Given the description of an element on the screen output the (x, y) to click on. 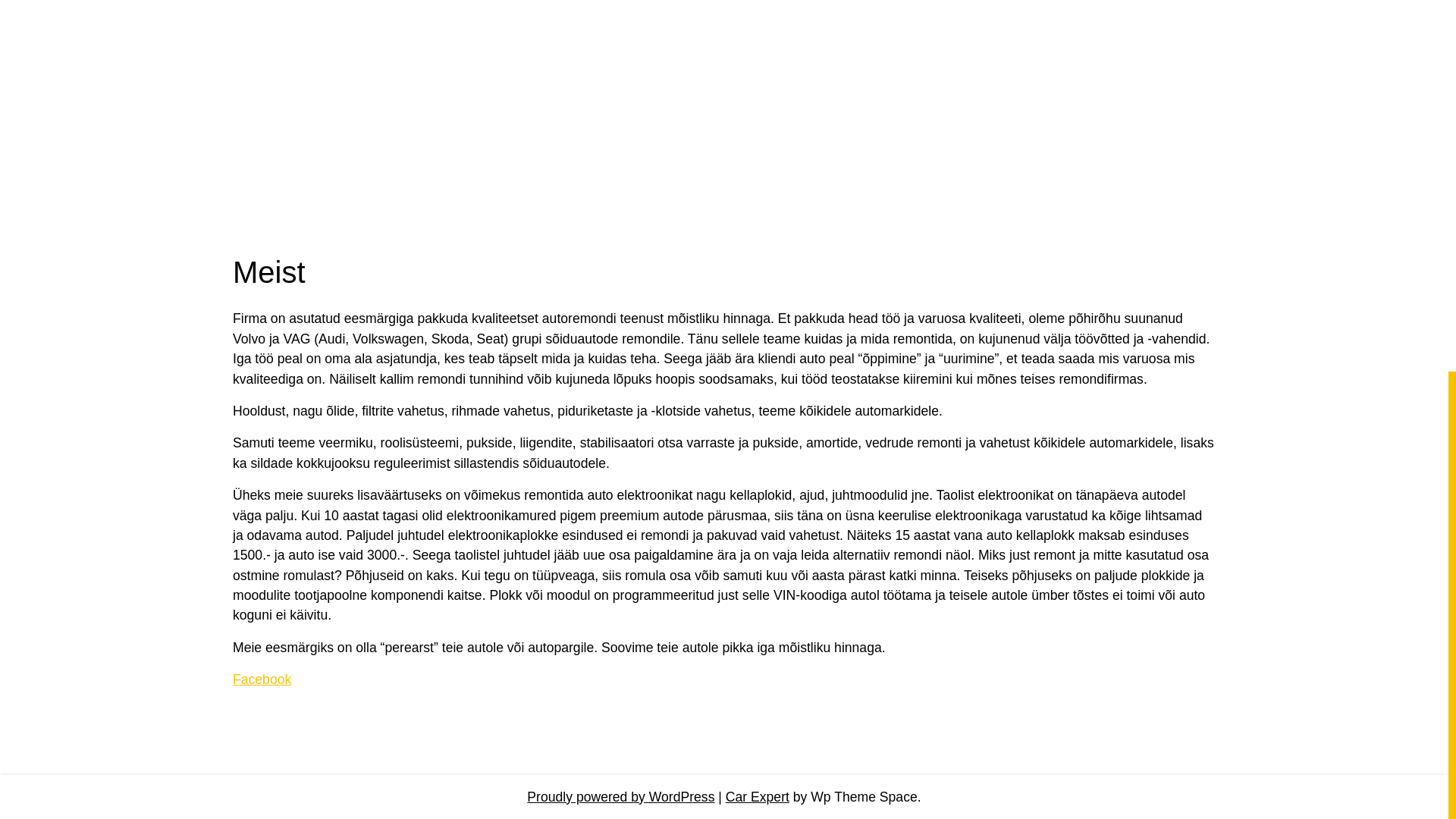
Car Expert (757, 796)
Facebook (261, 679)
Proudly powered by WordPress (620, 796)
